Given the description of an element on the screen output the (x, y) to click on. 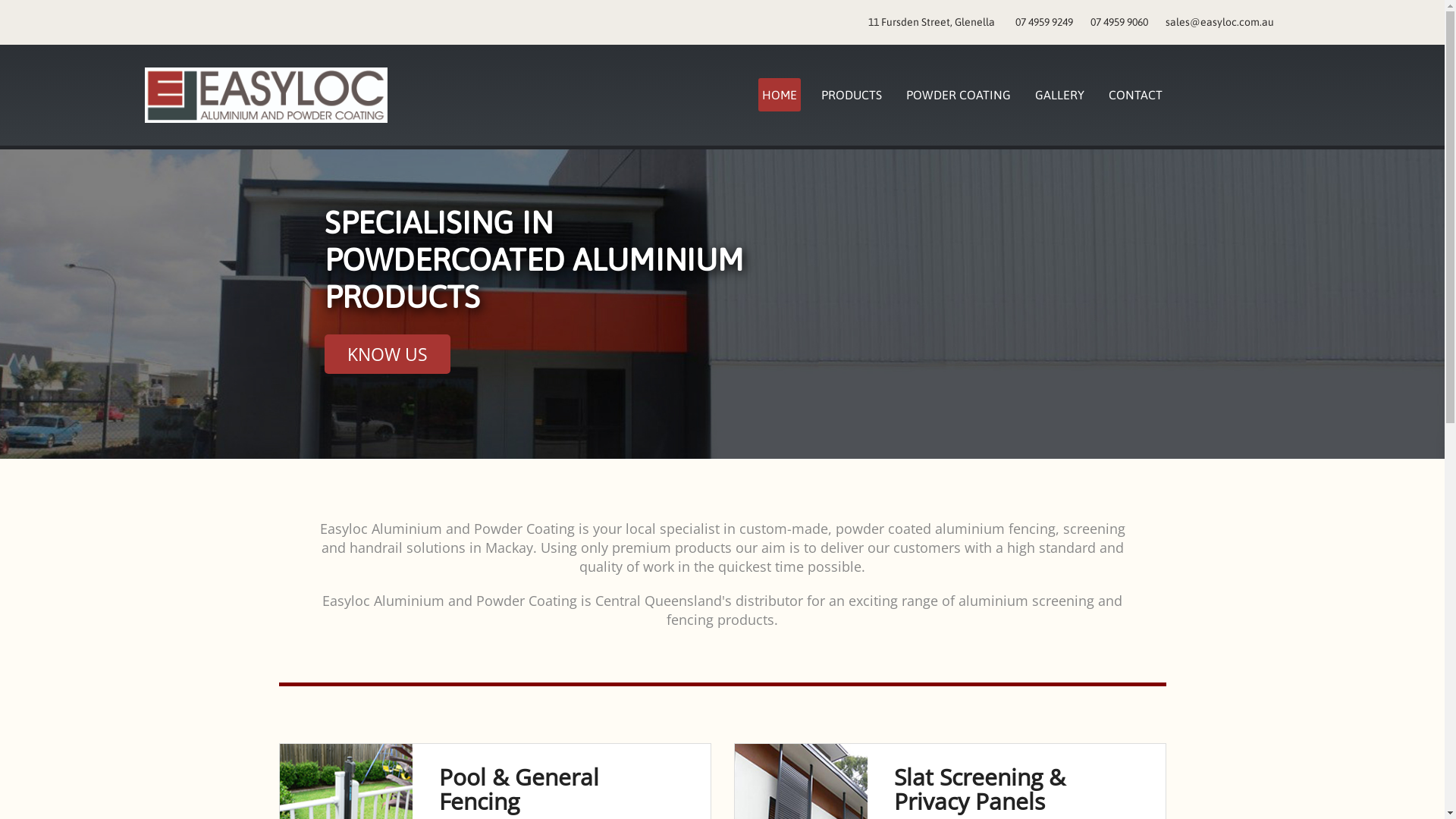
PRODUCTS Element type: text (850, 94)
CONTACT Element type: text (1135, 94)
KNOW US Element type: text (387, 353)
sales@easyloc.com.au Element type: text (1218, 21)
HOME Element type: text (778, 94)
POWDER COATING Element type: text (957, 94)
07 4959 9249 Element type: text (1043, 21)
GALLERY Element type: text (1058, 94)
